Given the description of an element on the screen output the (x, y) to click on. 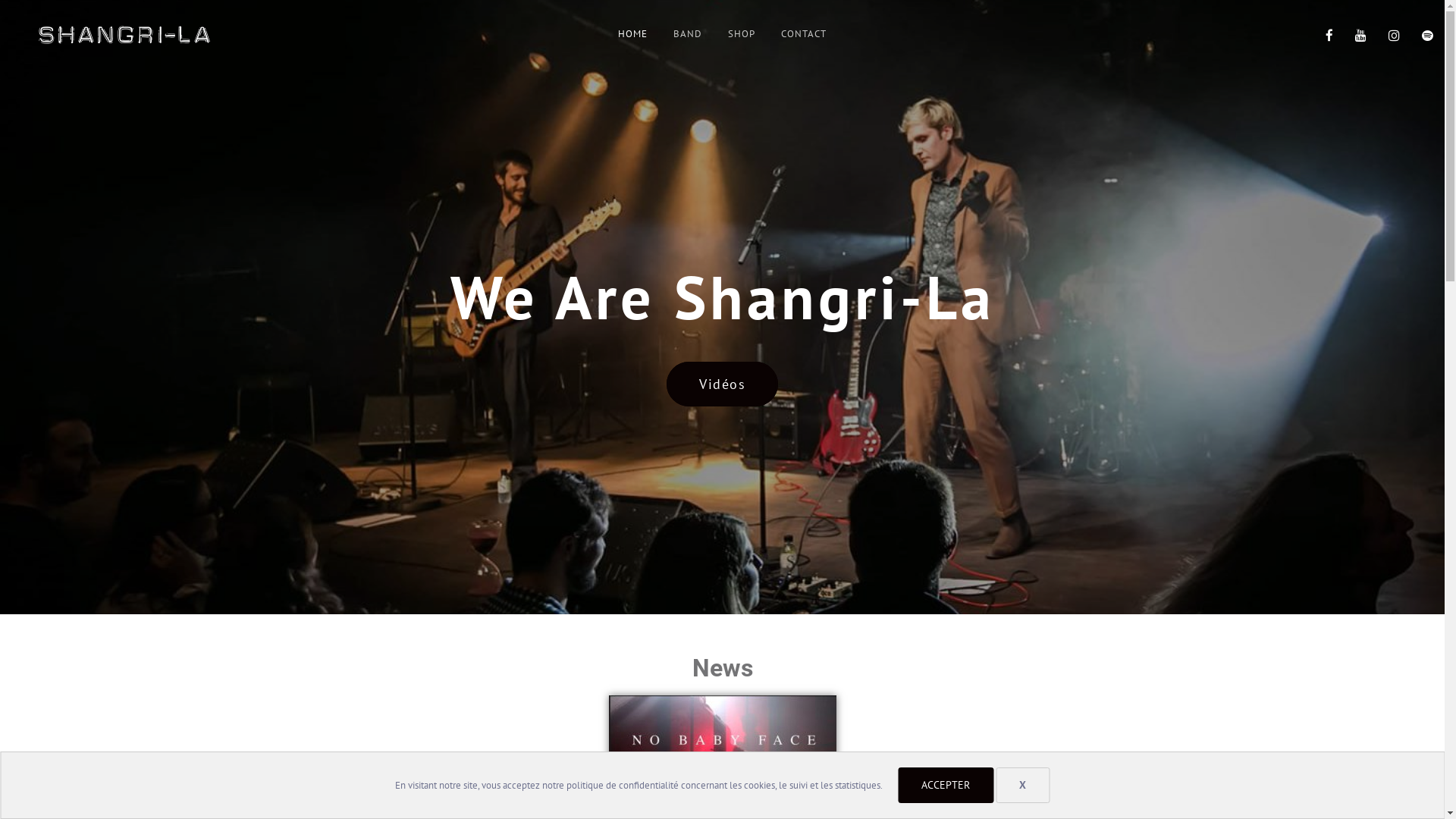
SHOP Element type: text (741, 34)
CONTACT Element type: text (803, 34)
HOME Element type: text (632, 34)
X Element type: text (1022, 785)
BAND Element type: text (687, 34)
Shangri-La Band Element type: text (294, 66)
ACCEPTER Element type: text (945, 785)
